Given the description of an element on the screen output the (x, y) to click on. 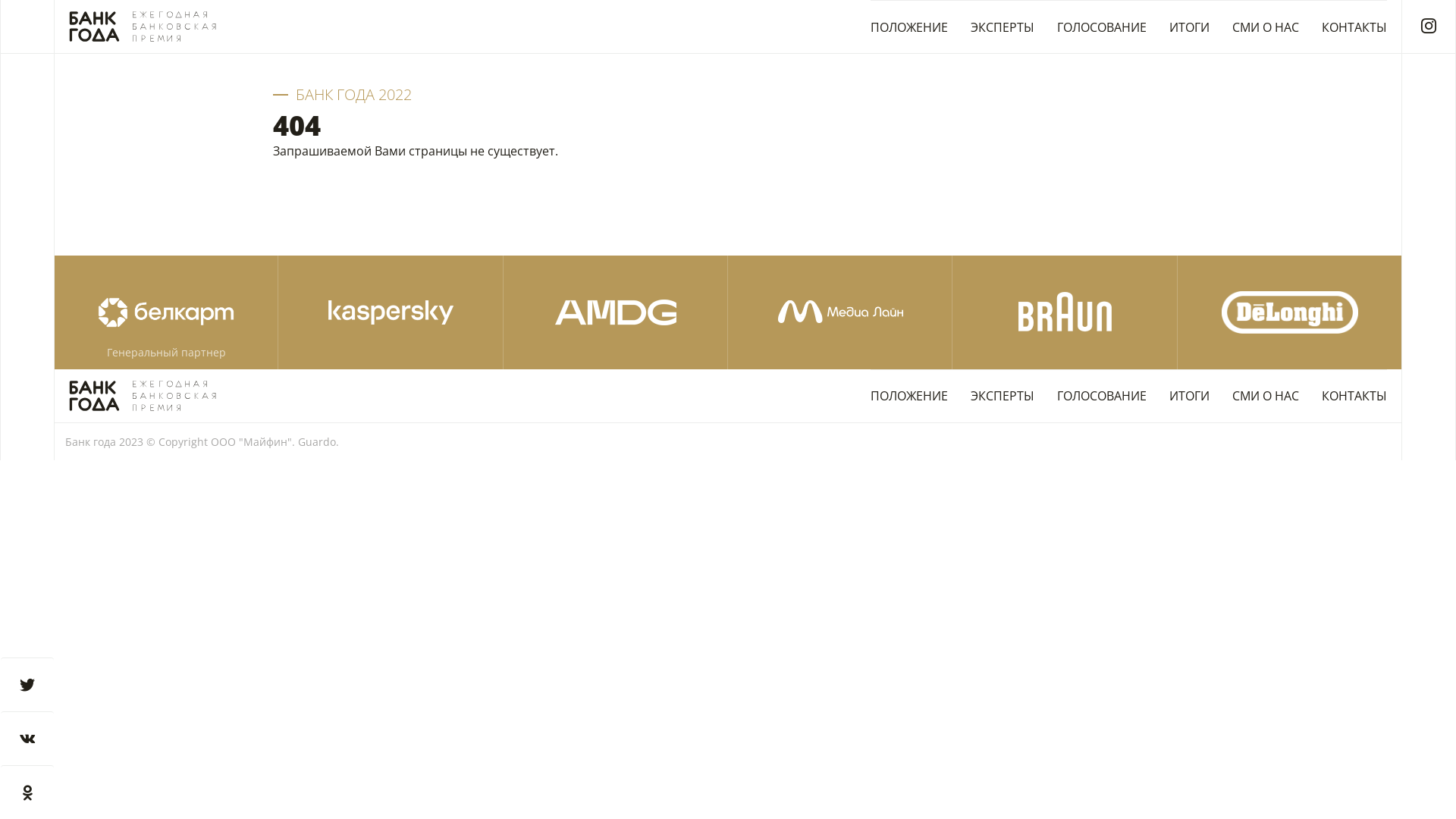
Twitter Element type: hover (26, 684)
